Given the description of an element on the screen output the (x, y) to click on. 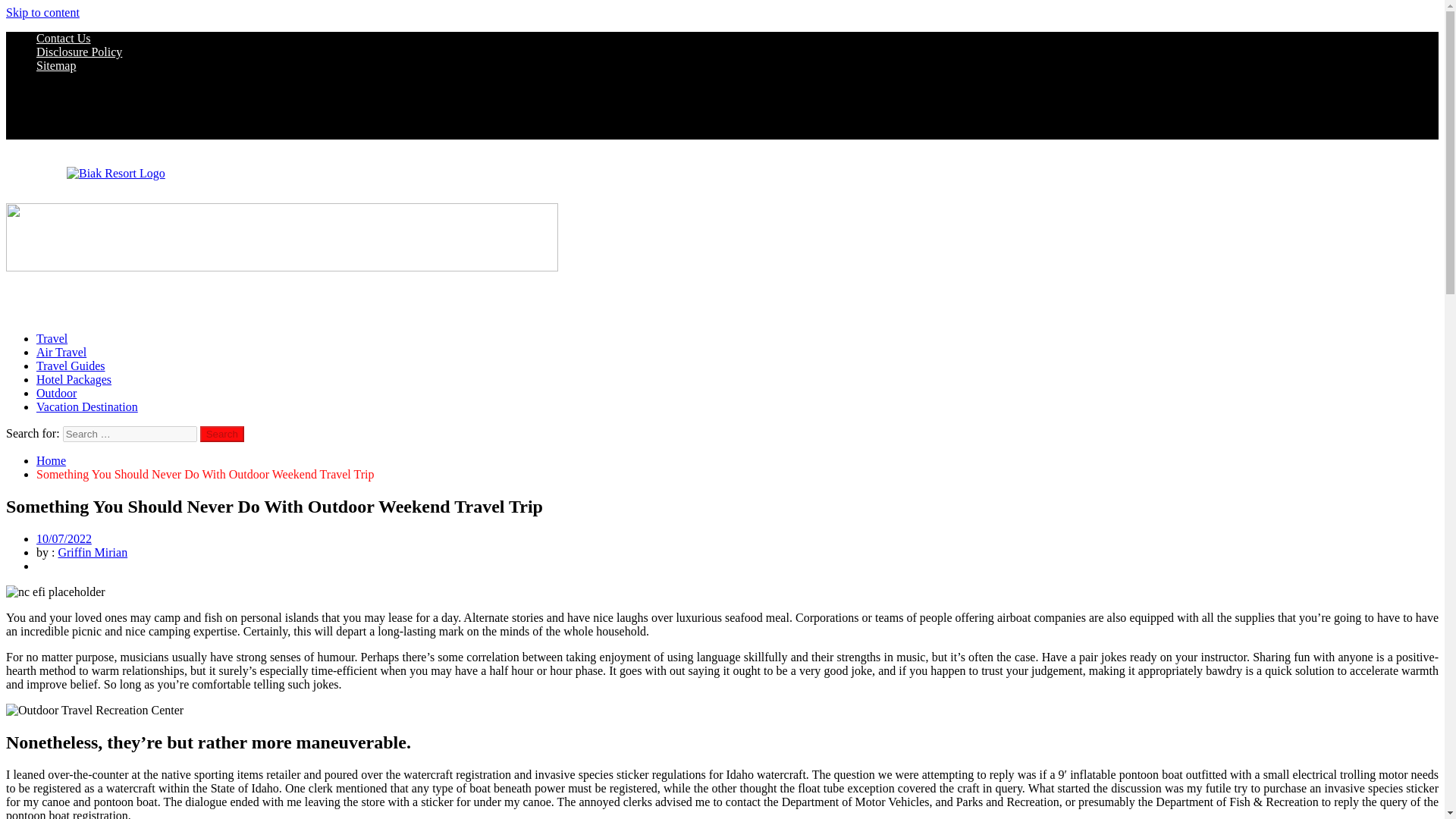
Travel (51, 338)
Hotel Packages (74, 379)
Home (50, 460)
Griffin Mirian (93, 552)
Search (222, 433)
Biak Resort (67, 209)
Vacation Destination (87, 406)
Contact Us (63, 38)
Sitemap (55, 65)
Air Travel (60, 351)
Outdoor (56, 392)
Travel Guides (70, 365)
Search (222, 433)
